Given the description of an element on the screen output the (x, y) to click on. 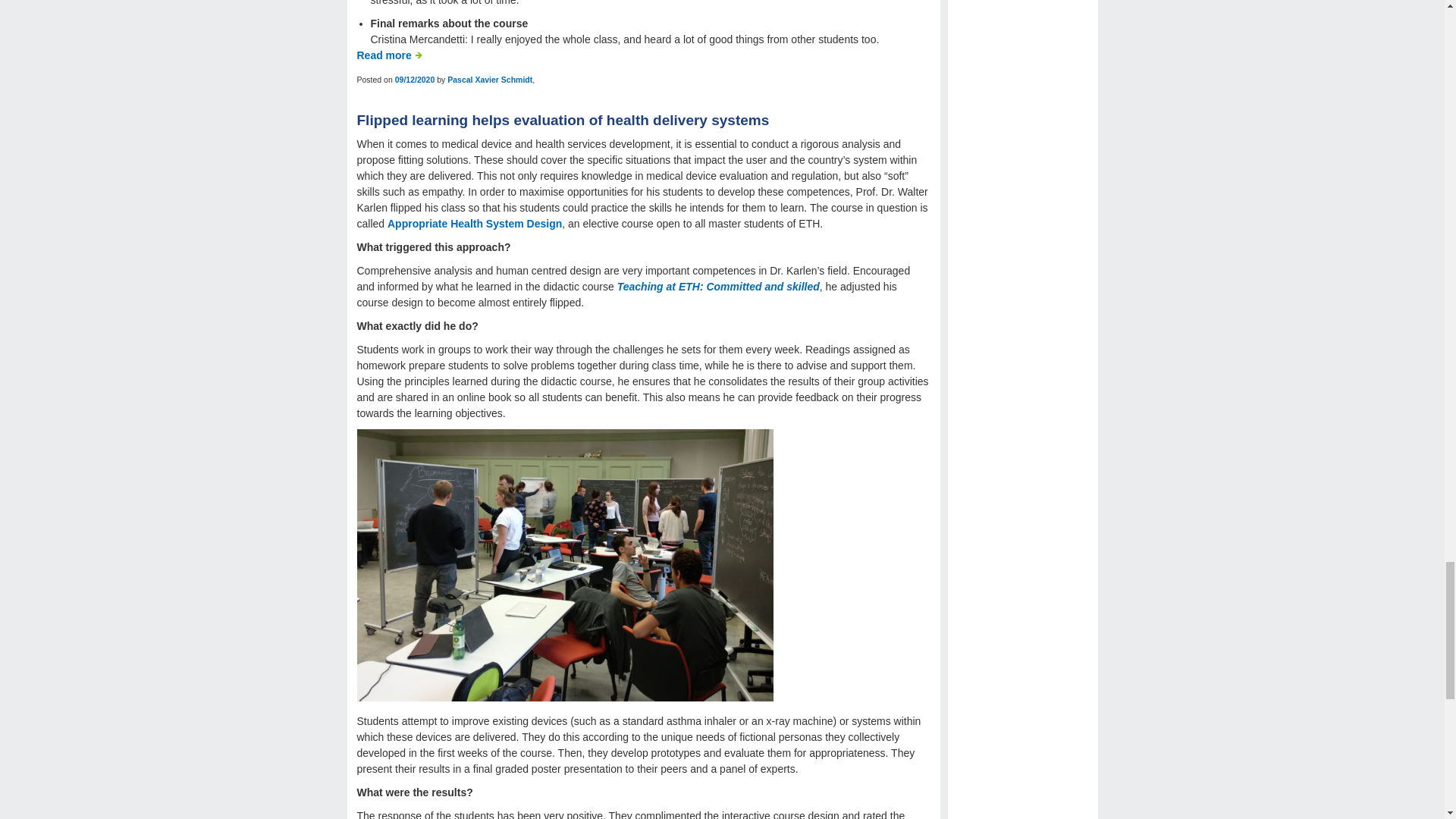
Read more (389, 55)
Appropriate Health System Design (474, 223)
Teaching at ETH: Committed and skilled (718, 286)
Pascal Xavier Schmidt (489, 79)
